Given the description of an element on the screen output the (x, y) to click on. 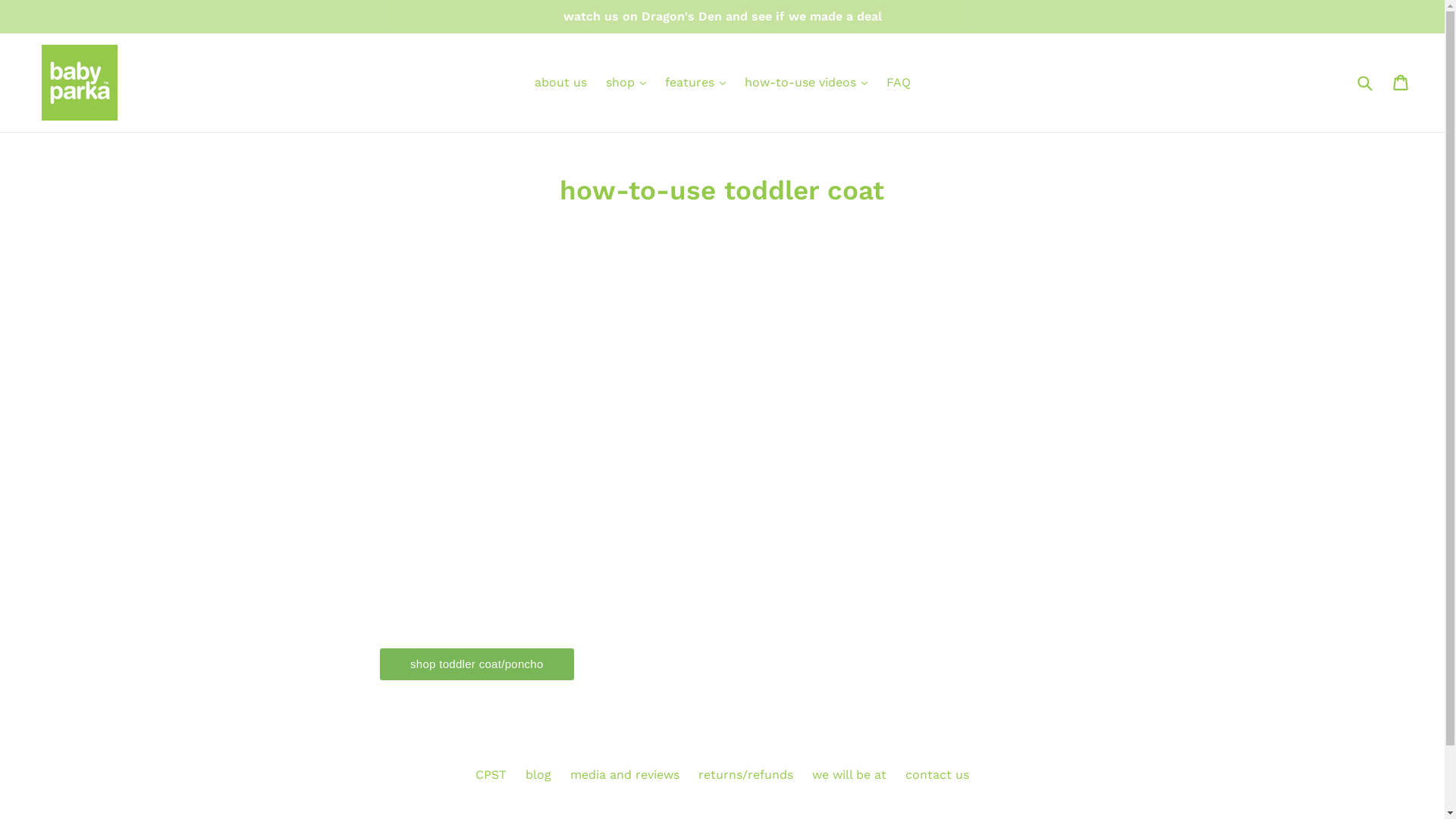
CPST Element type: text (490, 774)
we will be at Element type: text (849, 774)
media and reviews Element type: text (624, 774)
watch us on Dragon's Den and see if we made a deal Element type: text (722, 16)
Cart
Cart Element type: text (1401, 82)
Submit Element type: text (1363, 81)
contact us Element type: text (937, 774)
blog Element type: text (538, 774)
about us Element type: text (559, 82)
returns/refunds Element type: text (745, 774)
FAQ Element type: text (897, 82)
